Given the description of an element on the screen output the (x, y) to click on. 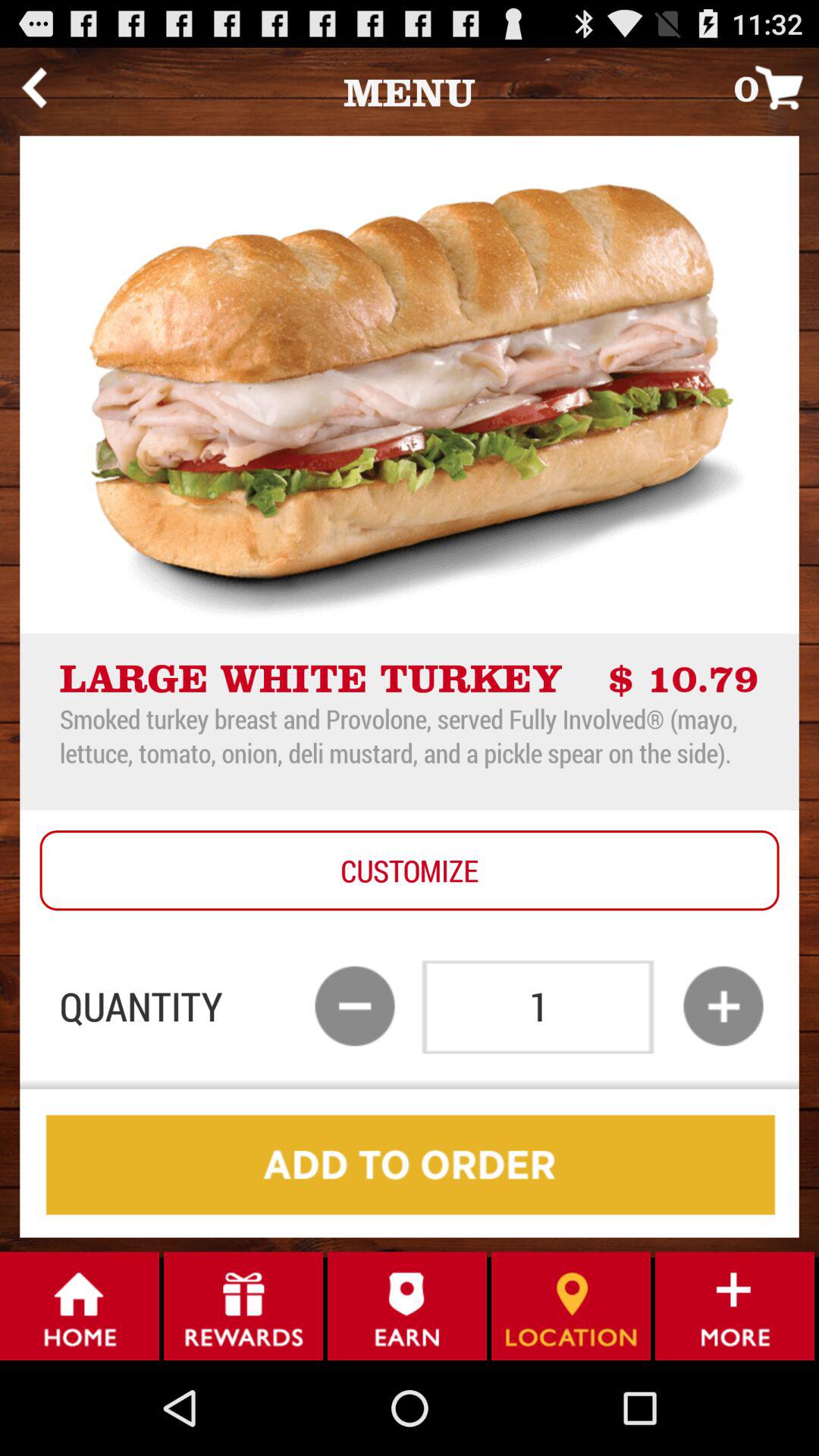
jump to customize item (409, 870)
